Given the description of an element on the screen output the (x, y) to click on. 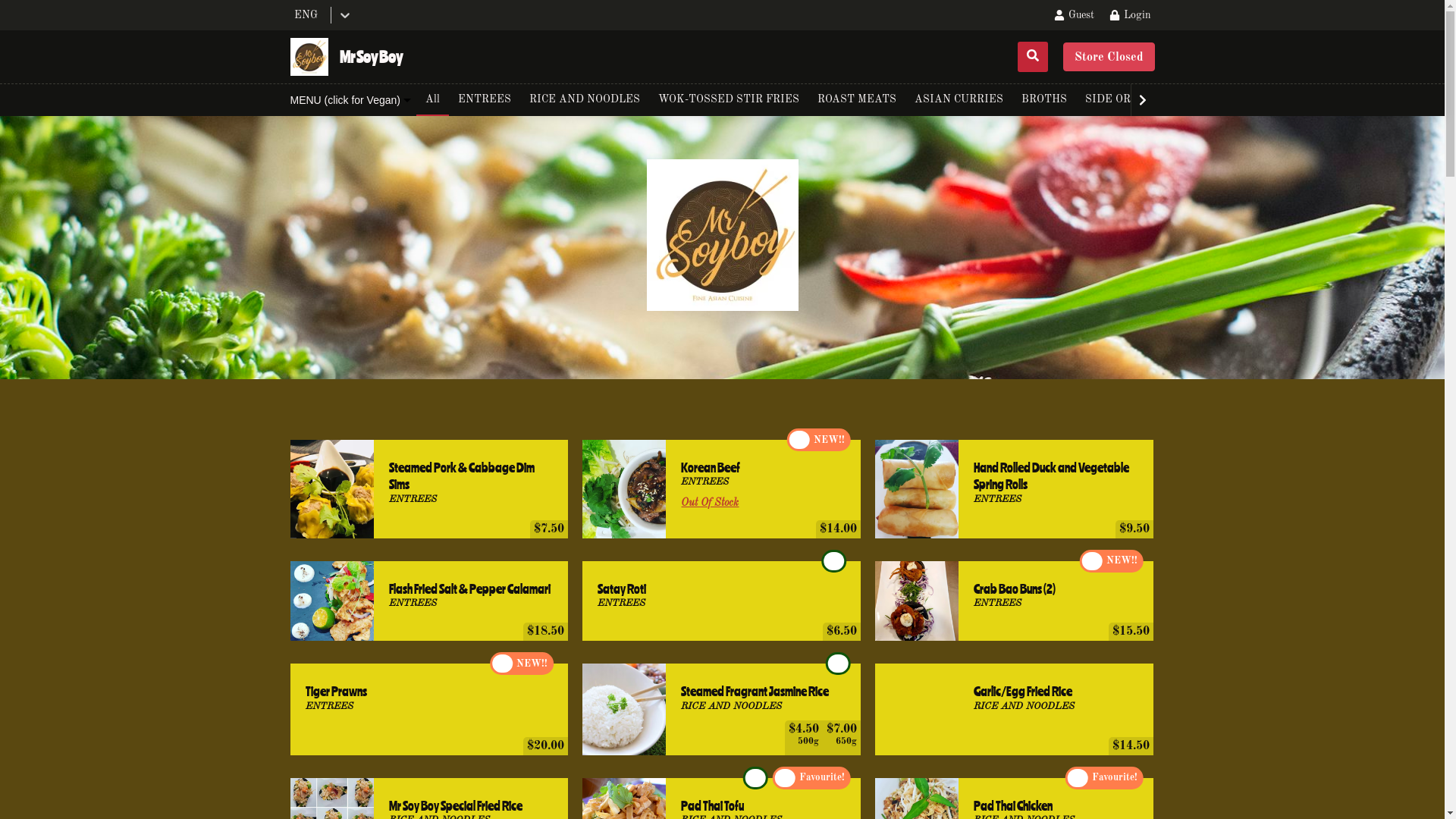
Mr Soy Boy Element type: text (345, 56)
Store Closed Element type: text (1108, 56)
